Given the description of an element on the screen output the (x, y) to click on. 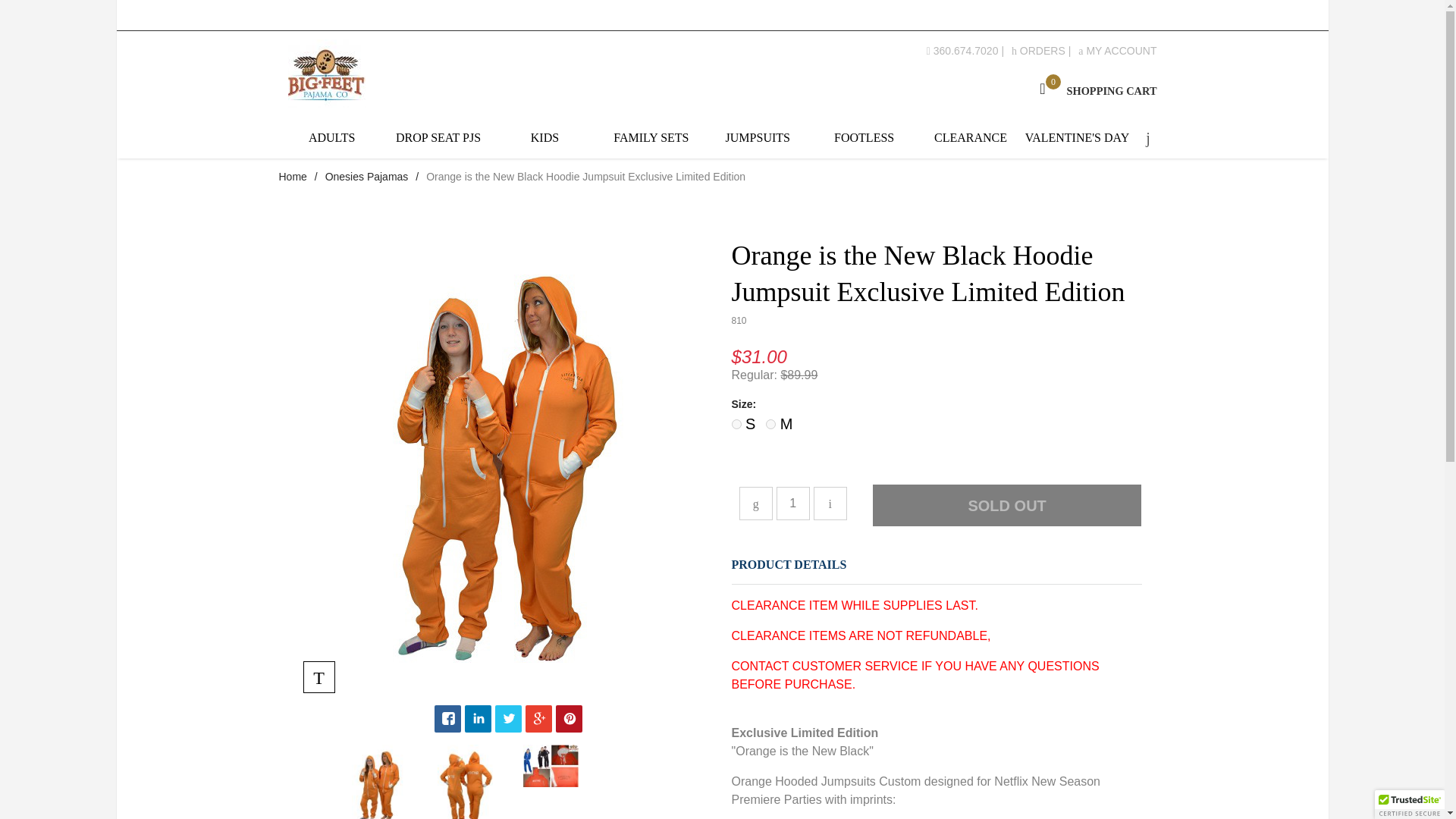
S (735, 424)
Sold Out (1006, 505)
Onesies Pajamas (366, 176)
Size: (935, 404)
S (742, 423)
ADULTS (1093, 90)
KIDS (332, 137)
M (544, 137)
CLEARANCE (770, 424)
Home (970, 137)
FOOTLESS (293, 176)
M (863, 137)
MY ACCOUNT (778, 423)
DROP SEAT PJS (1117, 50)
